Given the description of an element on the screen output the (x, y) to click on. 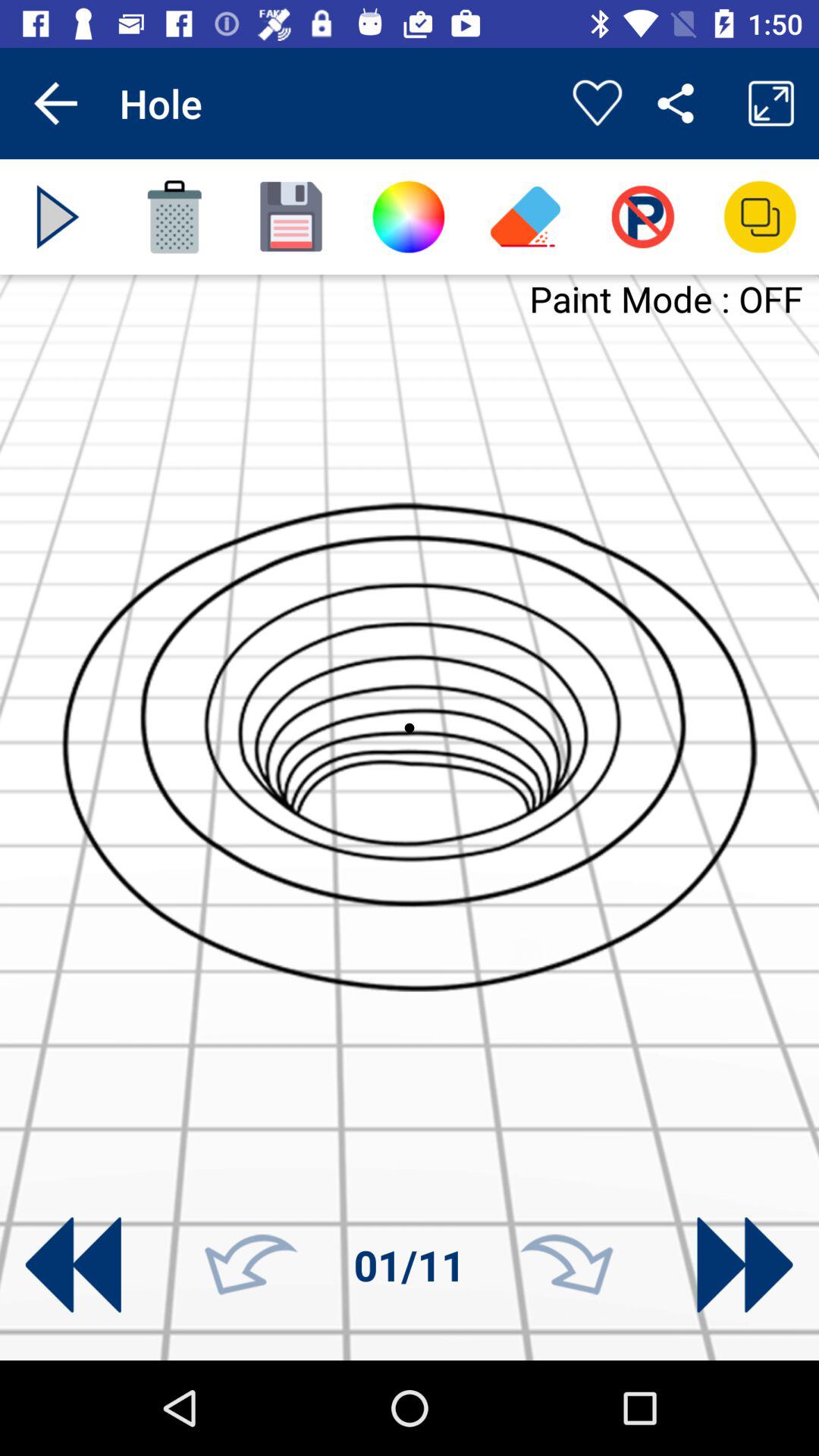
open another layer (759, 216)
